Given the description of an element on the screen output the (x, y) to click on. 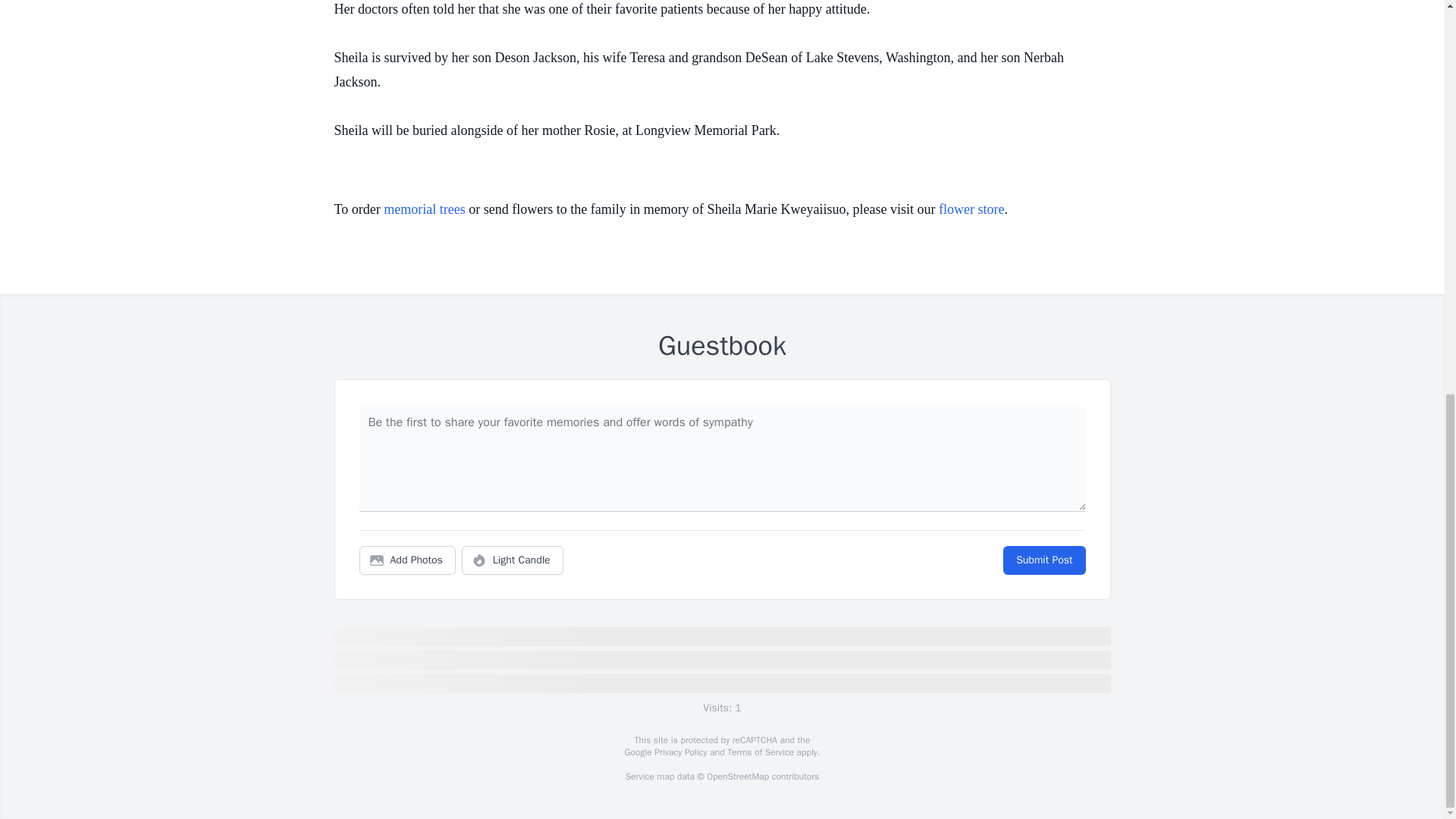
memorial trees (424, 209)
Privacy Policy (679, 752)
Add Photos (407, 560)
Submit Post (1043, 560)
Terms of Service (759, 752)
flower store (971, 209)
OpenStreetMap (737, 776)
Light Candle (512, 560)
